Given the description of an element on the screen output the (x, y) to click on. 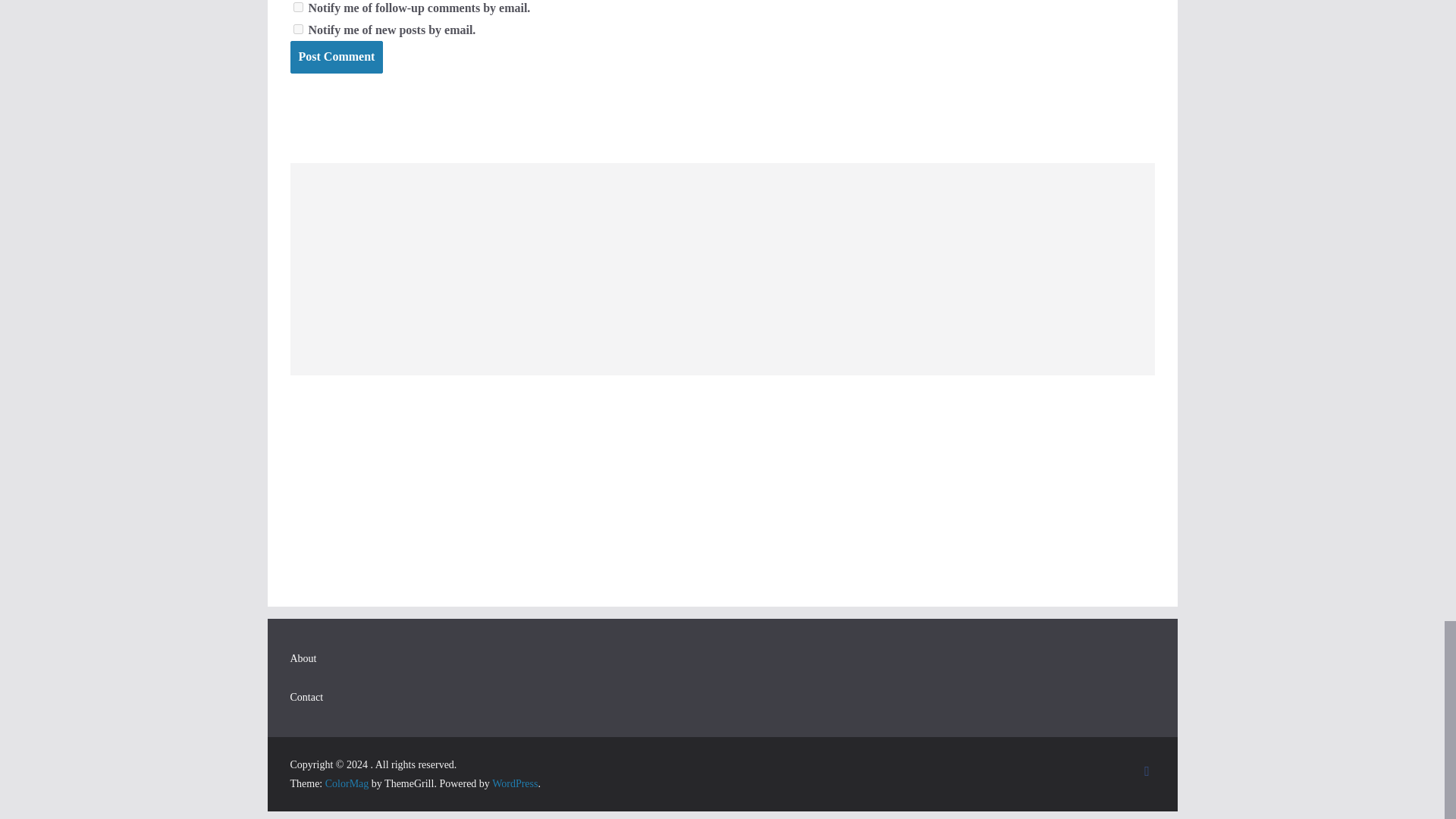
subscribe (297, 28)
subscribe (297, 7)
Post Comment (335, 56)
